Given the description of an element on the screen output the (x, y) to click on. 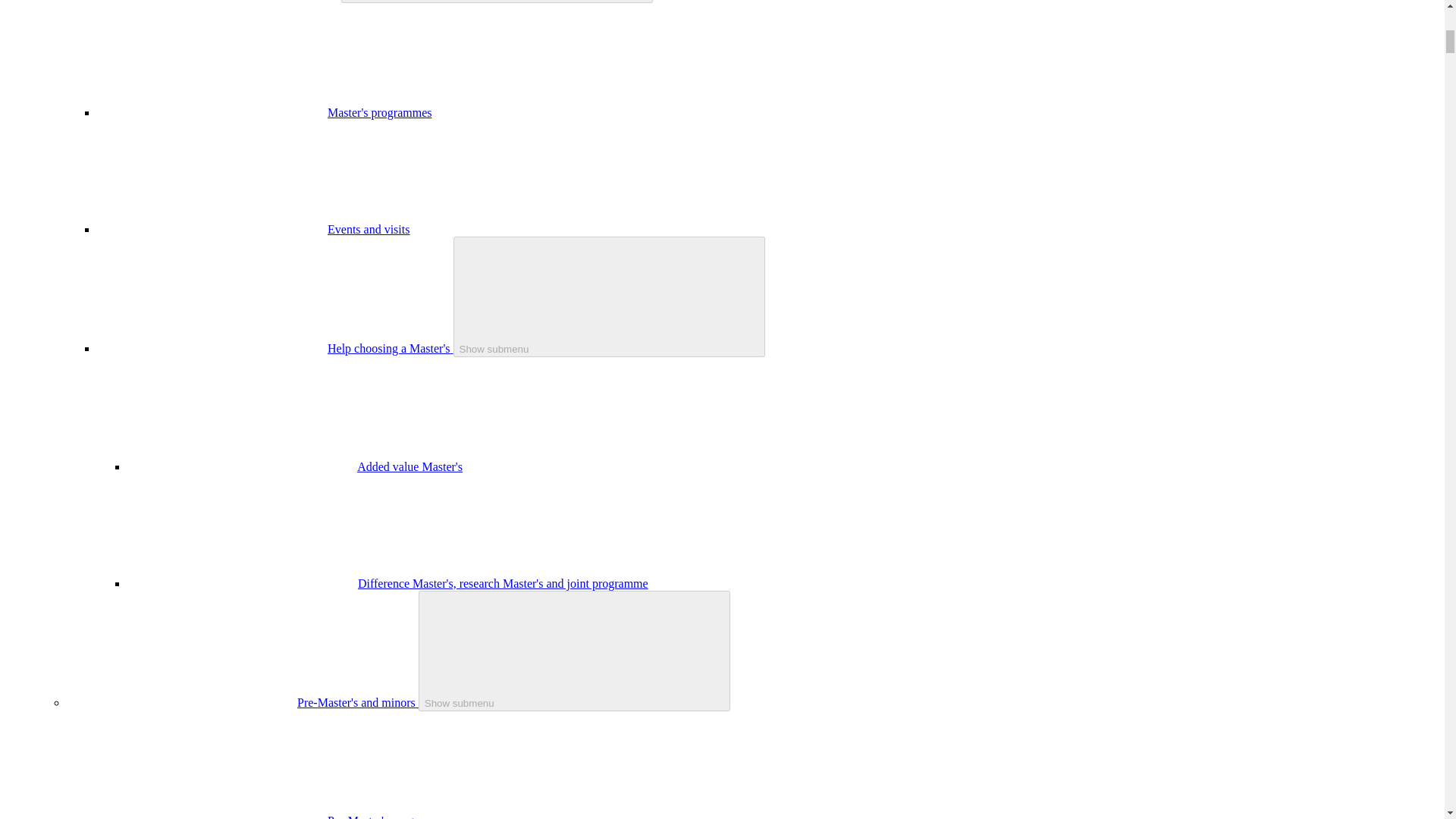
Added value Master's (409, 466)
Master's (318, 0)
Show submenu (608, 296)
Help choosing a Master's (389, 348)
Pre-Master's and minors (358, 702)
Show submenu (574, 650)
Events and visits (368, 228)
Pre-Master's programmes (389, 816)
Master's programmes (379, 112)
Difference Master's, research Master's and joint programme (502, 583)
